Given the description of an element on the screen output the (x, y) to click on. 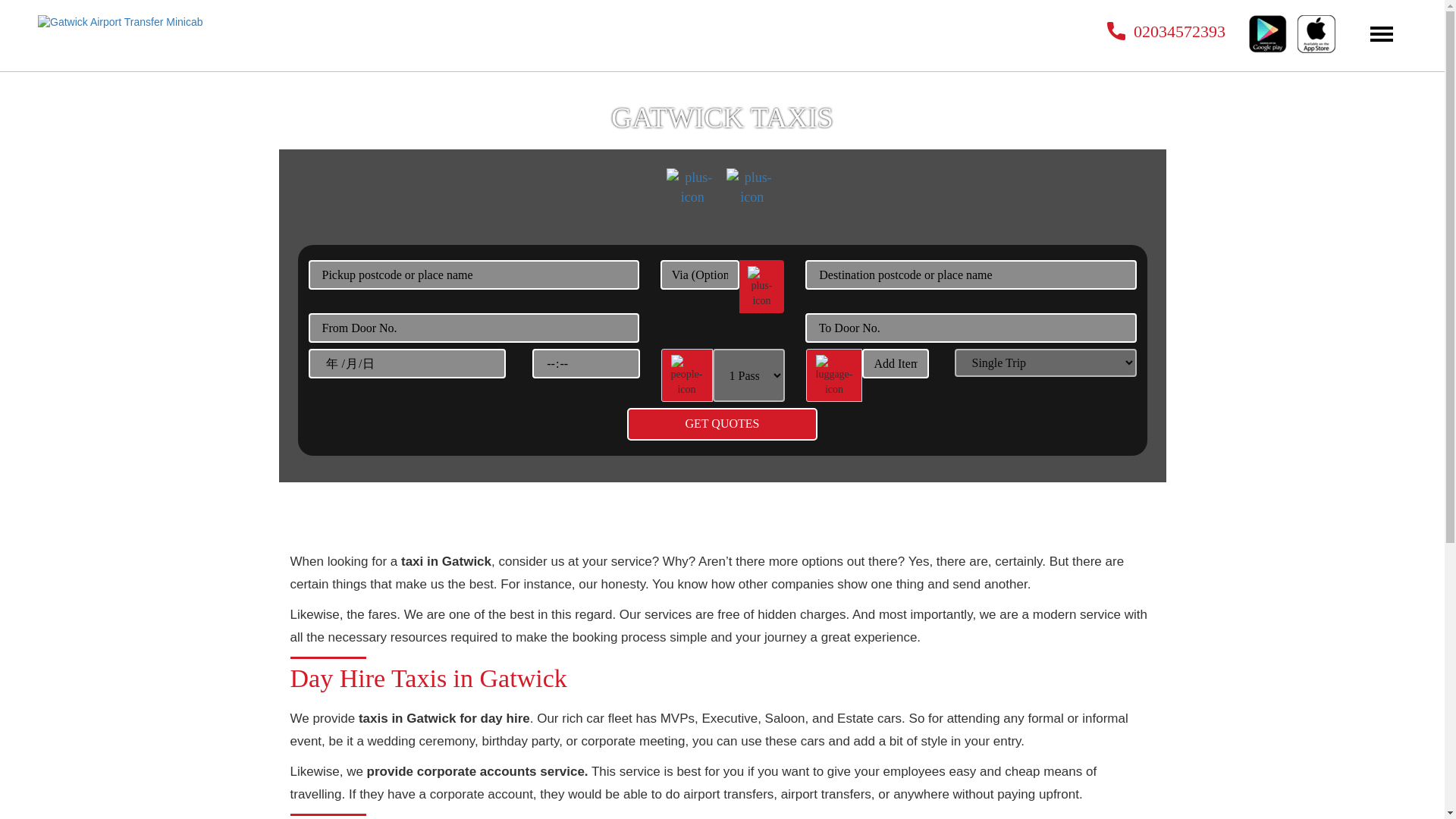
Android App (1268, 34)
02034572393 (1165, 30)
Menu (1381, 34)
GET QUOTES (721, 423)
IOS App (1316, 34)
